Given the description of an element on the screen output the (x, y) to click on. 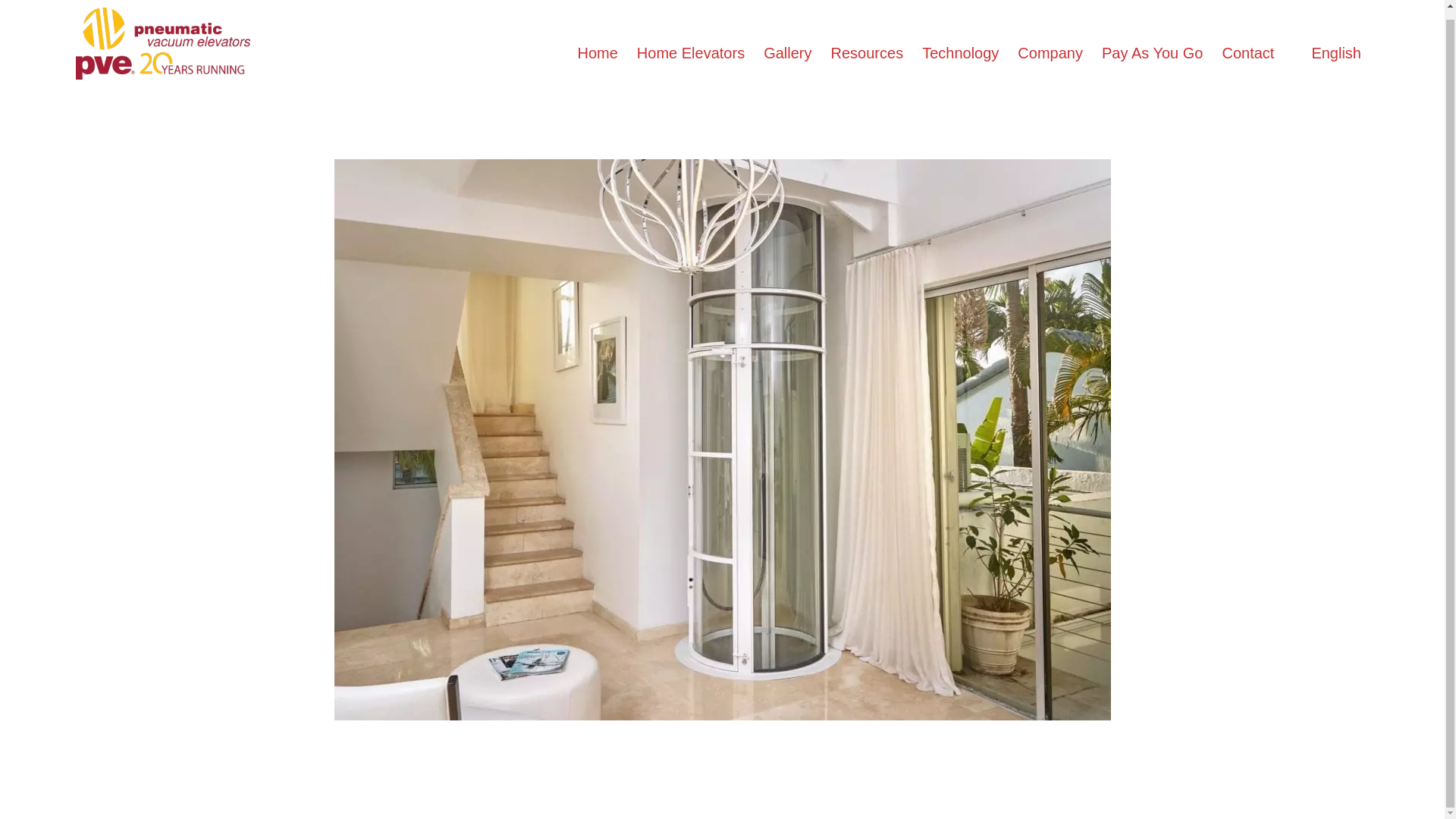
English (1326, 44)
Home (596, 44)
Technology (960, 44)
Gallery (786, 44)
Pay As You Go (1151, 44)
Company (1050, 44)
Contact (1247, 44)
Resources (867, 44)
Home Elevators (690, 44)
